Given the description of an element on the screen output the (x, y) to click on. 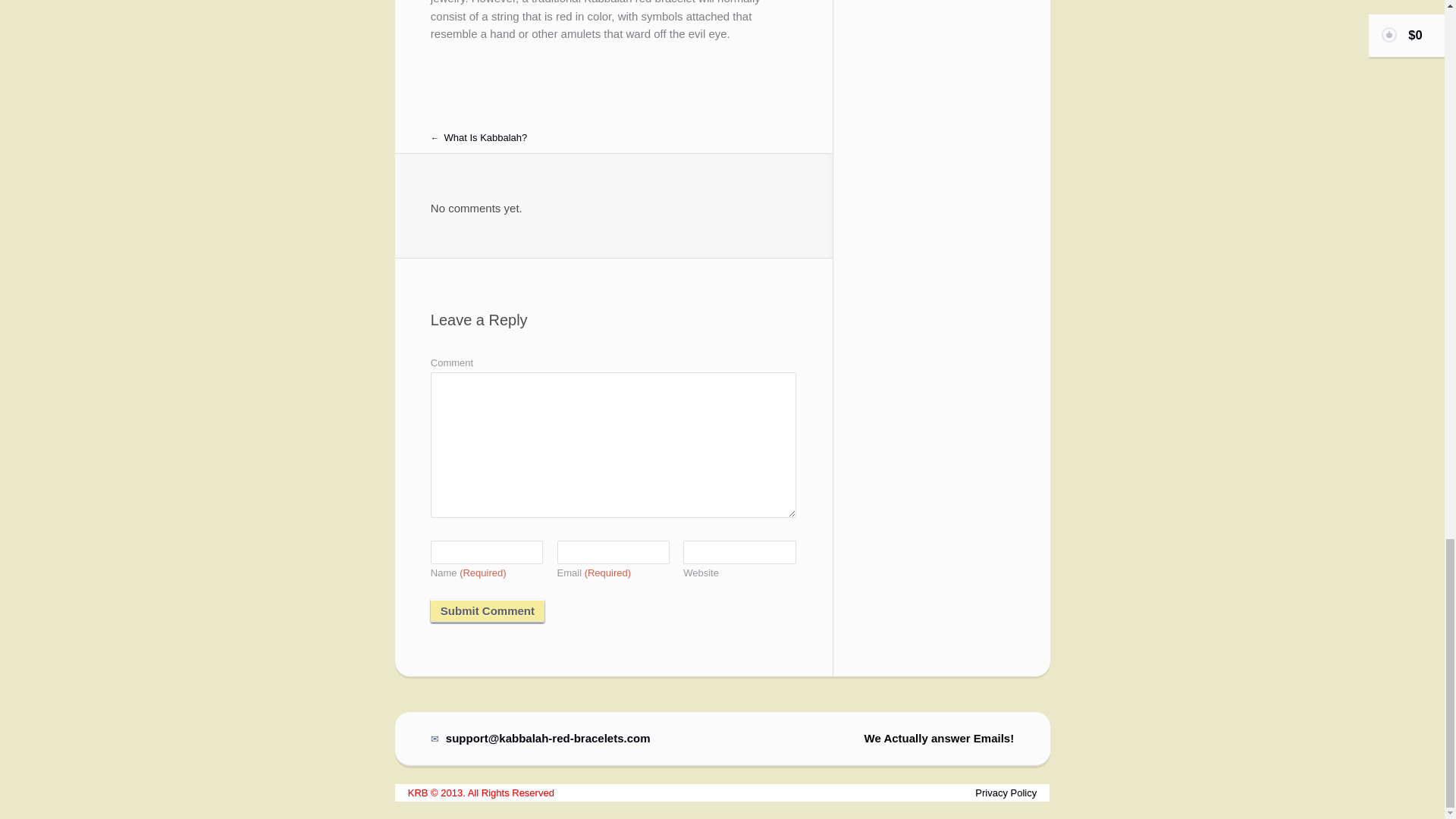
Send us an email (540, 738)
Submit Comment (487, 610)
Submit Comment (487, 610)
What Is Kabbalah? (478, 137)
Privacy Policy (1005, 791)
